Given the description of an element on the screen output the (x, y) to click on. 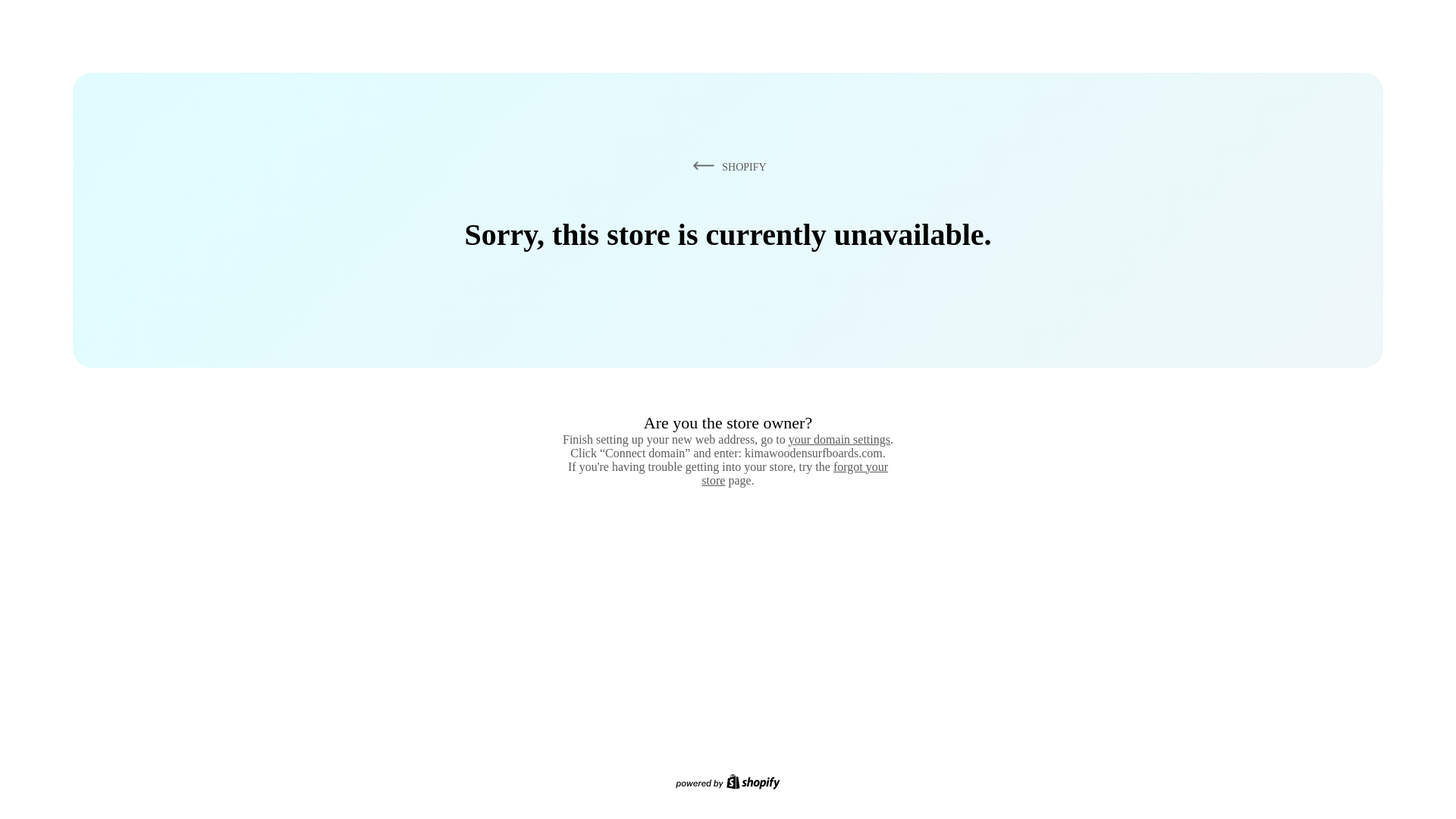
SHOPIFY (726, 166)
forgot your store (794, 473)
your domain settings (839, 439)
